Given the description of an element on the screen output the (x, y) to click on. 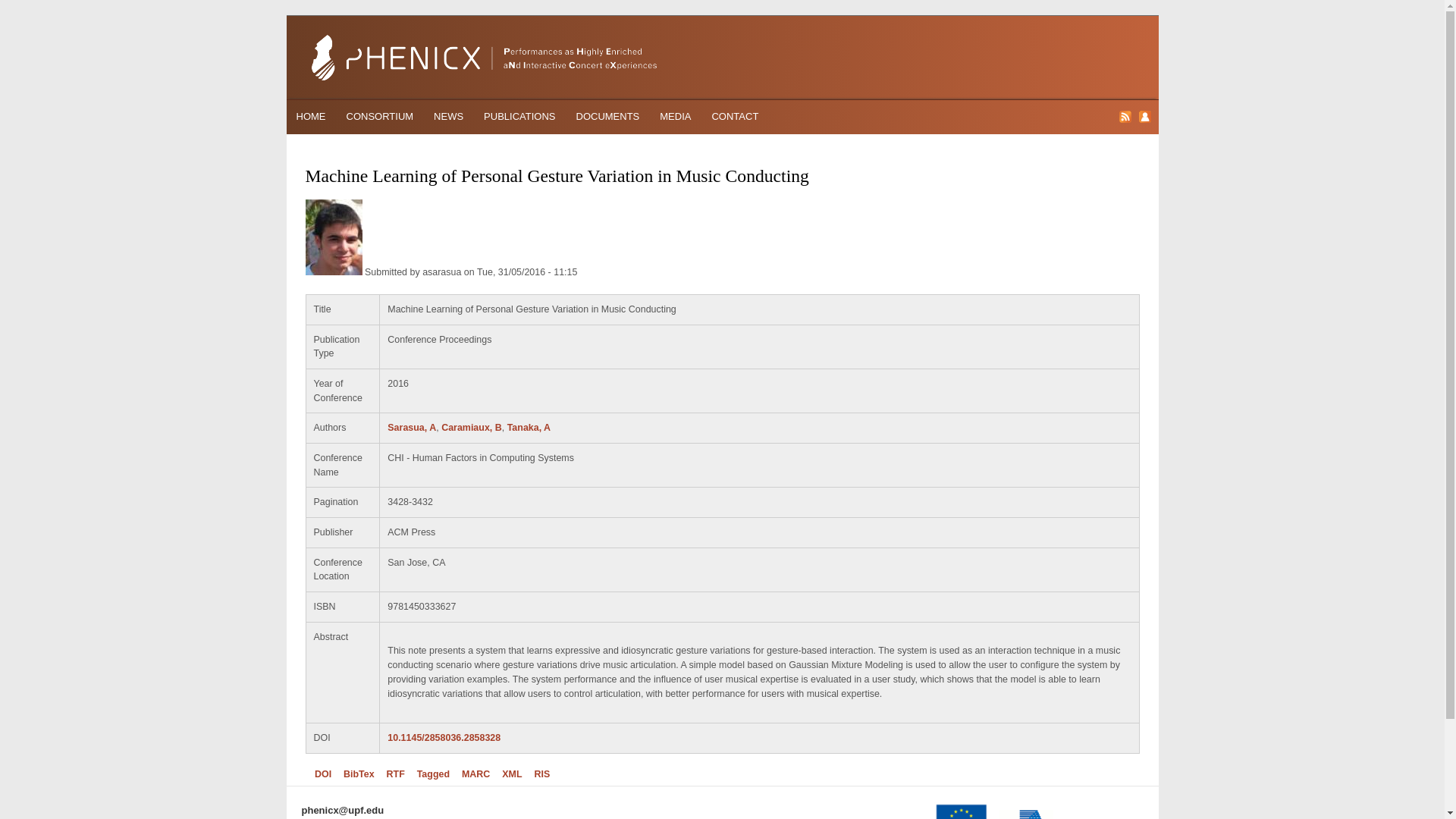
Tanaka, A (528, 427)
Caramiaux, B (471, 427)
MARC (475, 774)
RTF (395, 774)
BibTex (358, 774)
Click to view the CrossRef listing for this node (322, 774)
Click to download the BibTEX formatted file (358, 774)
RIS (542, 774)
Click to download the EndNote XML formatted file (511, 774)
Click to download the MARC formatted file (475, 774)
